Given the description of an element on the screen output the (x, y) to click on. 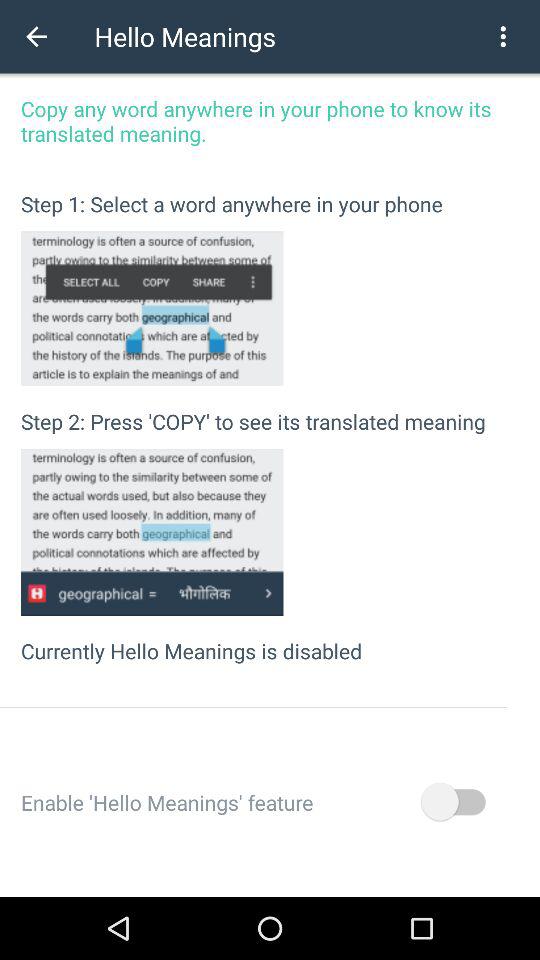
enable hello meanings (452, 802)
